Given the description of an element on the screen output the (x, y) to click on. 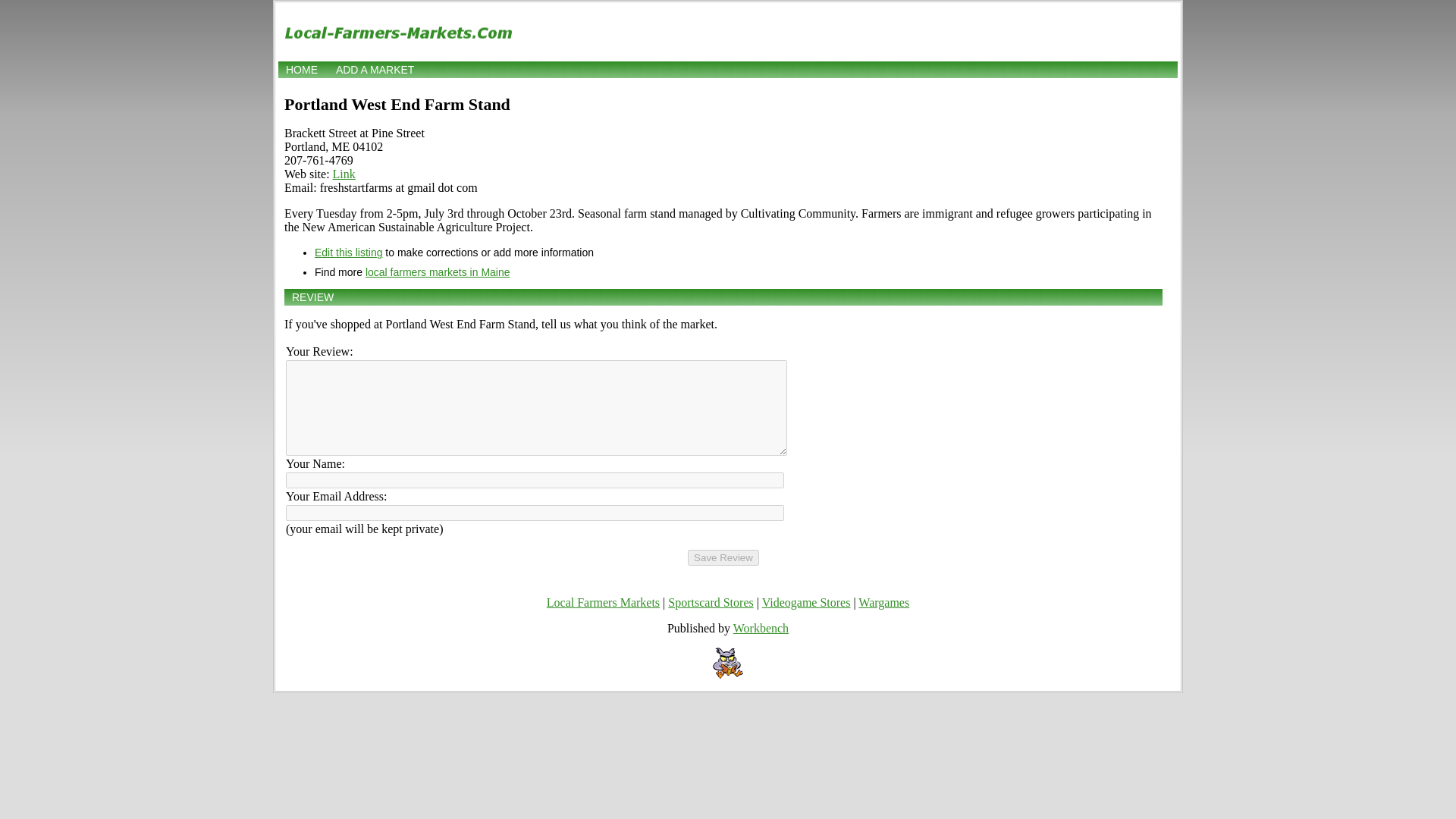
Link (344, 173)
local farmers markets in Maine (438, 272)
HOME (301, 69)
Videogame Stores (805, 602)
Save Review (722, 557)
Edit this listing (347, 252)
ADD A MARKET (375, 69)
Sportscard Stores (710, 602)
Save Review (722, 557)
Workbench (761, 627)
Local Farmers Markets (603, 602)
Wargames (883, 602)
